Given the description of an element on the screen output the (x, y) to click on. 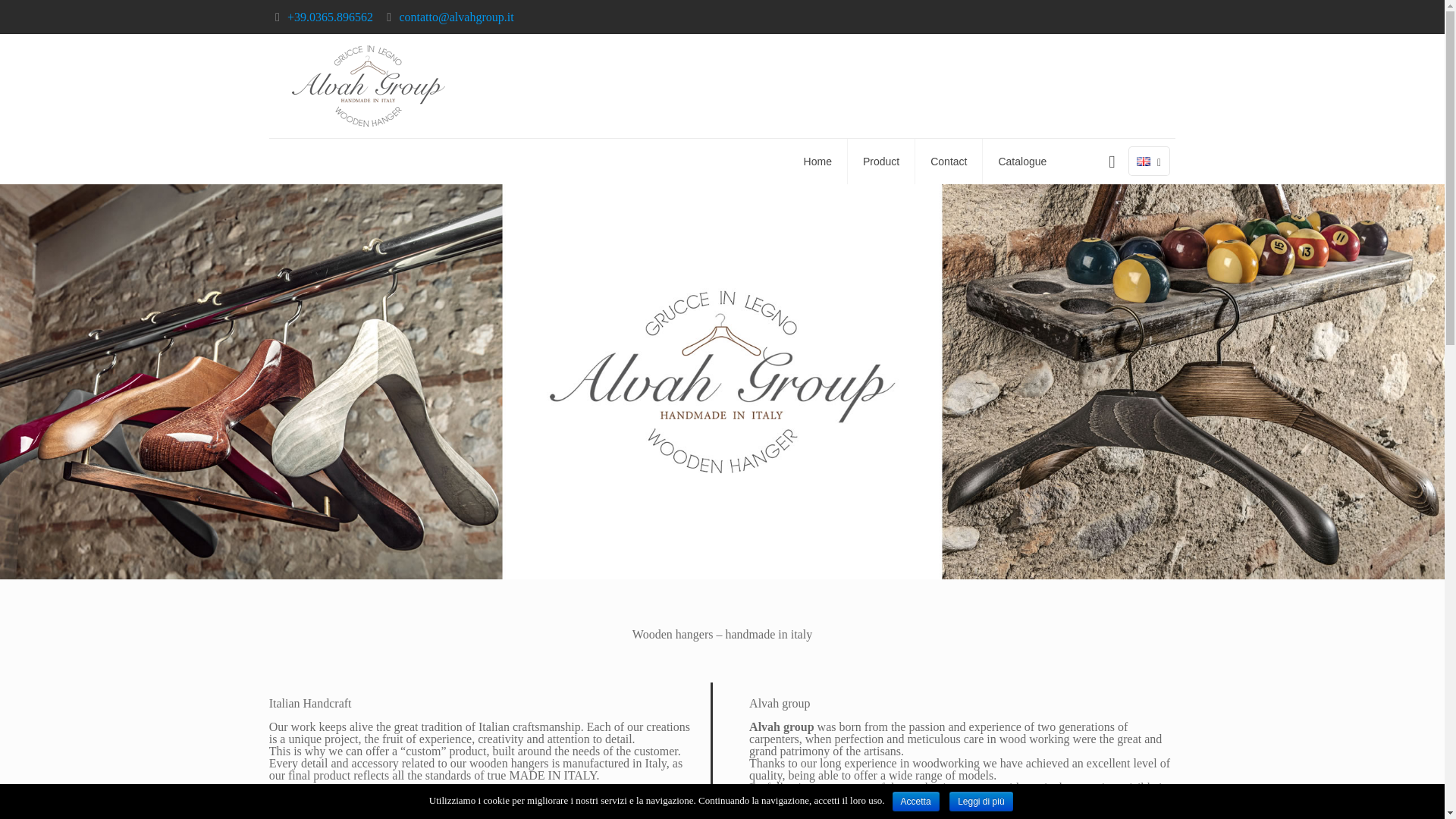
Home (818, 161)
Alvah Group Srl (368, 86)
Product (881, 161)
